Given the description of an element on the screen output the (x, y) to click on. 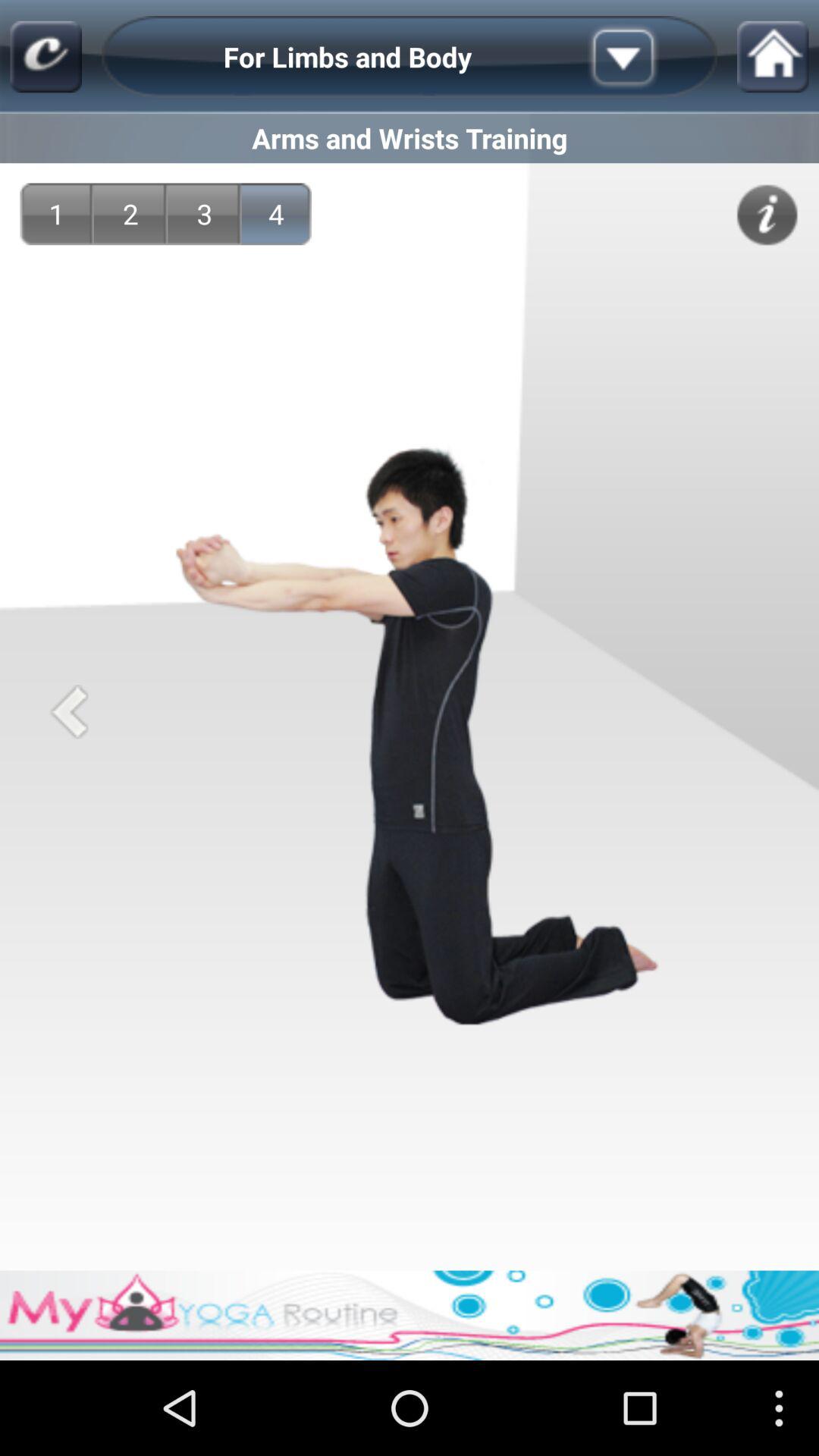
tap item below the arms and wrists app (204, 214)
